Given the description of an element on the screen output the (x, y) to click on. 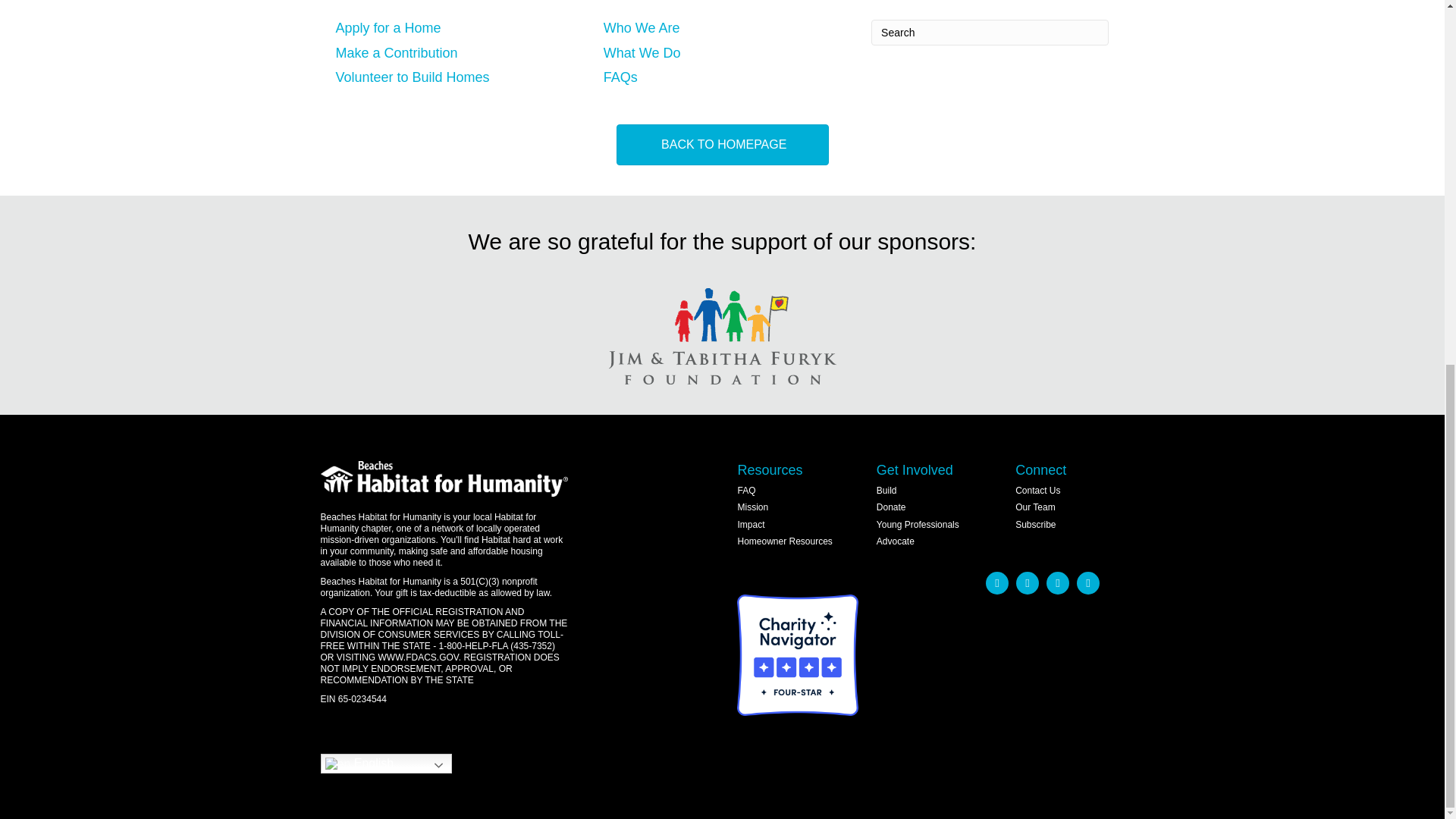
Foundation-logo-vector (721, 336)
Search (989, 32)
Type and press Enter to search. (989, 32)
Search (989, 32)
